Given the description of an element on the screen output the (x, y) to click on. 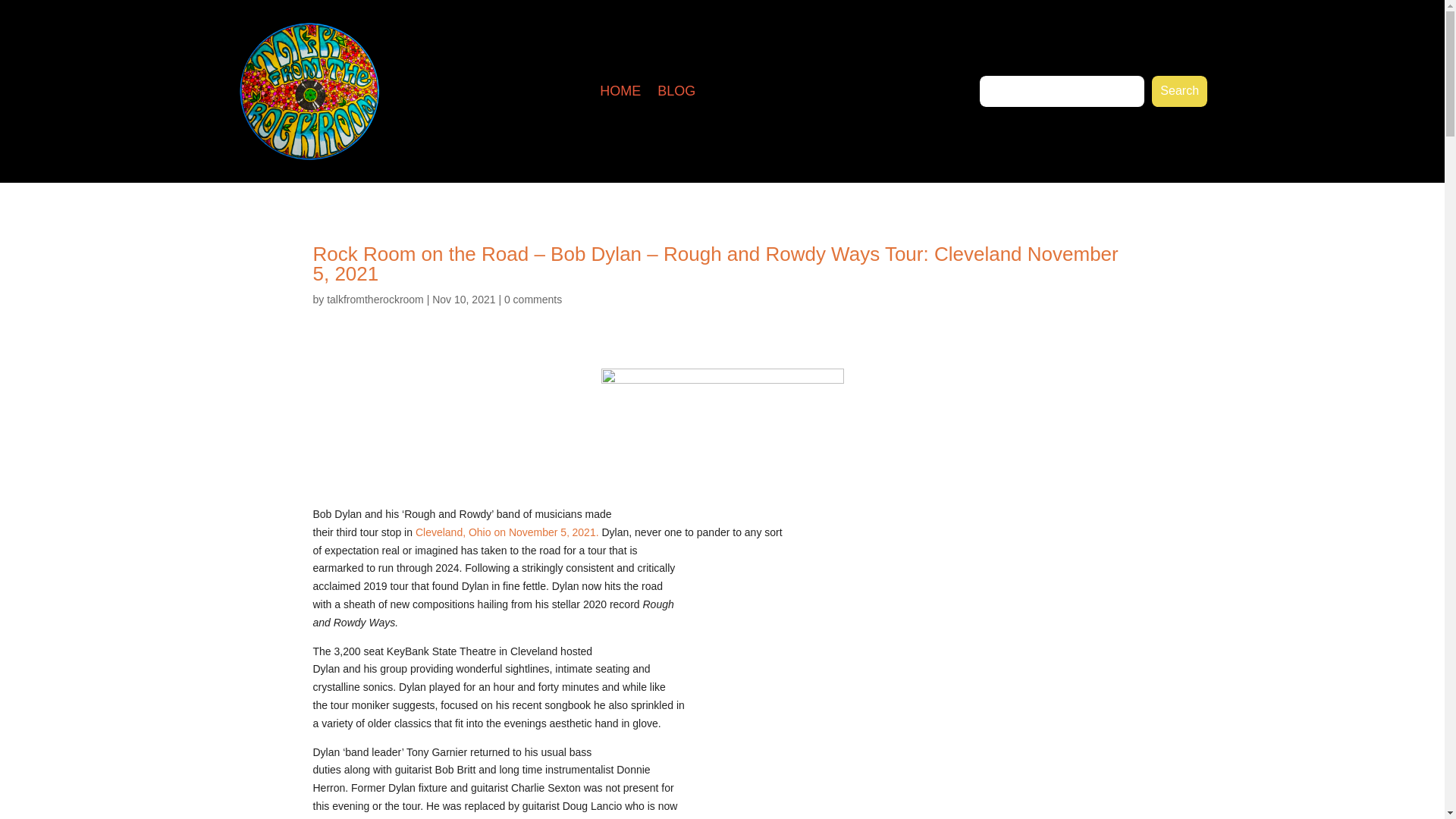
Search (1179, 91)
talkfromtherockroom (374, 299)
Posts by talkfromtherockroom (374, 299)
Search (1179, 91)
0 comments (532, 299)
Cleveland, Ohio on November 5, 2021. (506, 532)
Search (1179, 91)
